Given the description of an element on the screen output the (x, y) to click on. 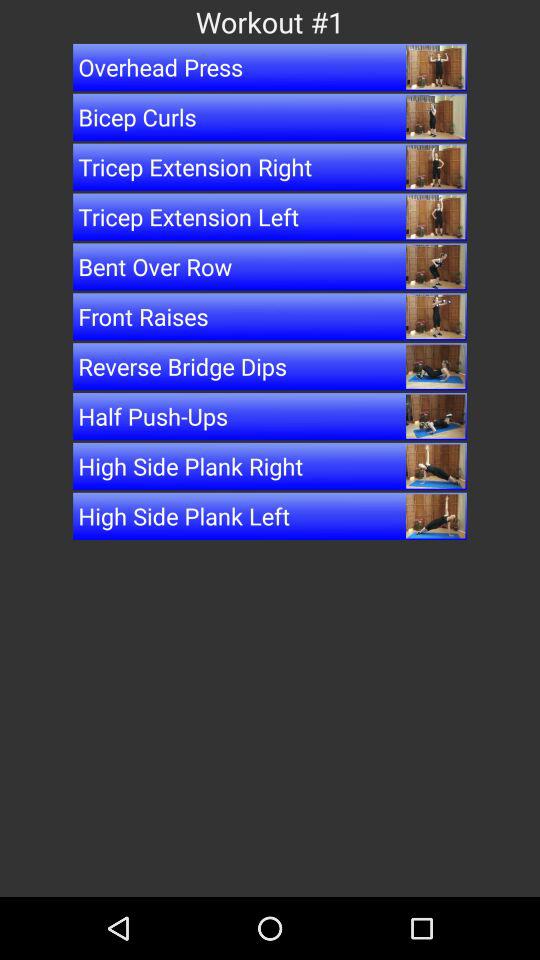
swipe to overhead press item (269, 67)
